Given the description of an element on the screen output the (x, y) to click on. 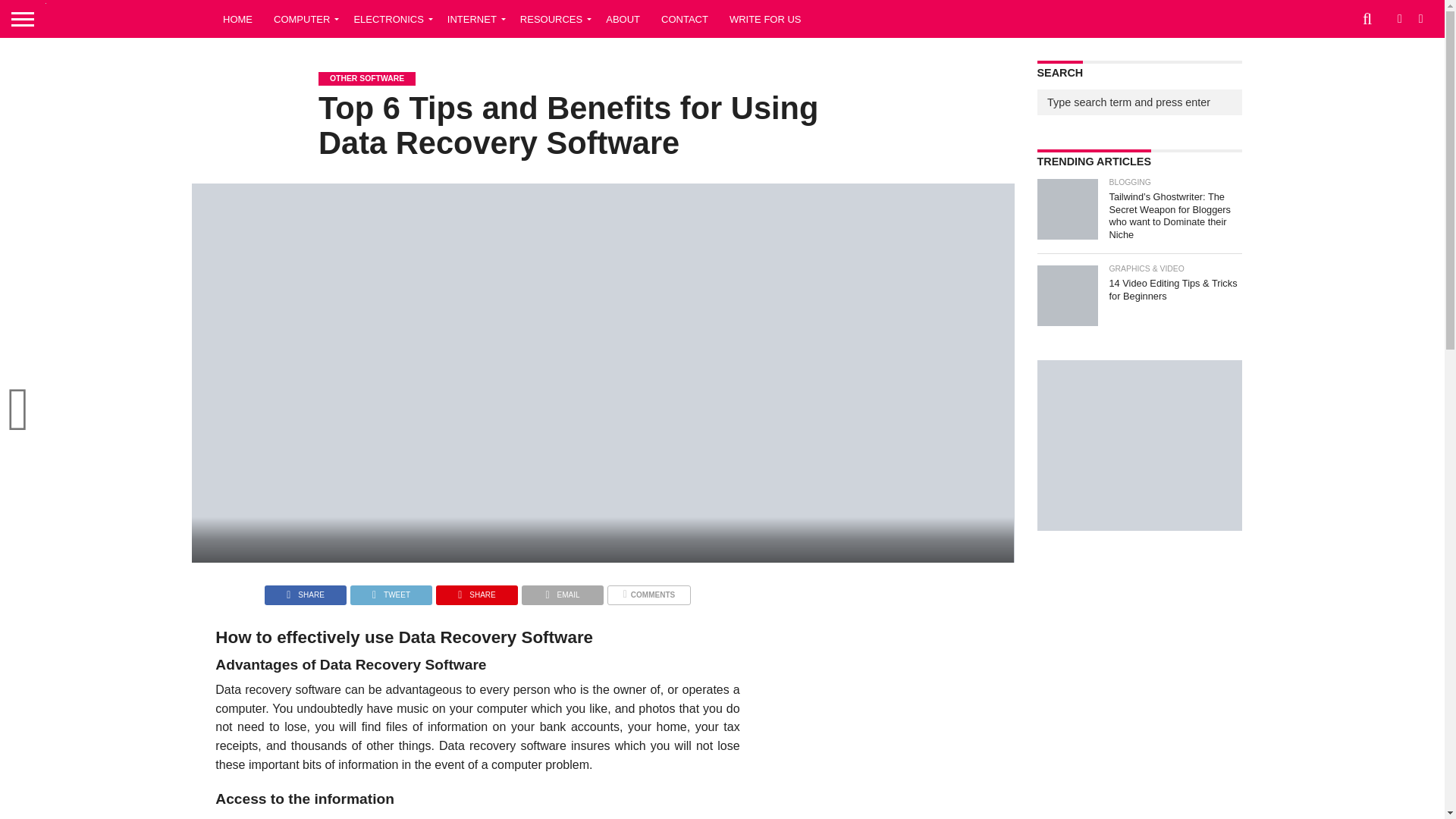
Tweet This Post (390, 590)
Share on Facebook (305, 590)
Pin This Post (476, 590)
Type search term and press enter (1138, 102)
